Given the description of an element on the screen output the (x, y) to click on. 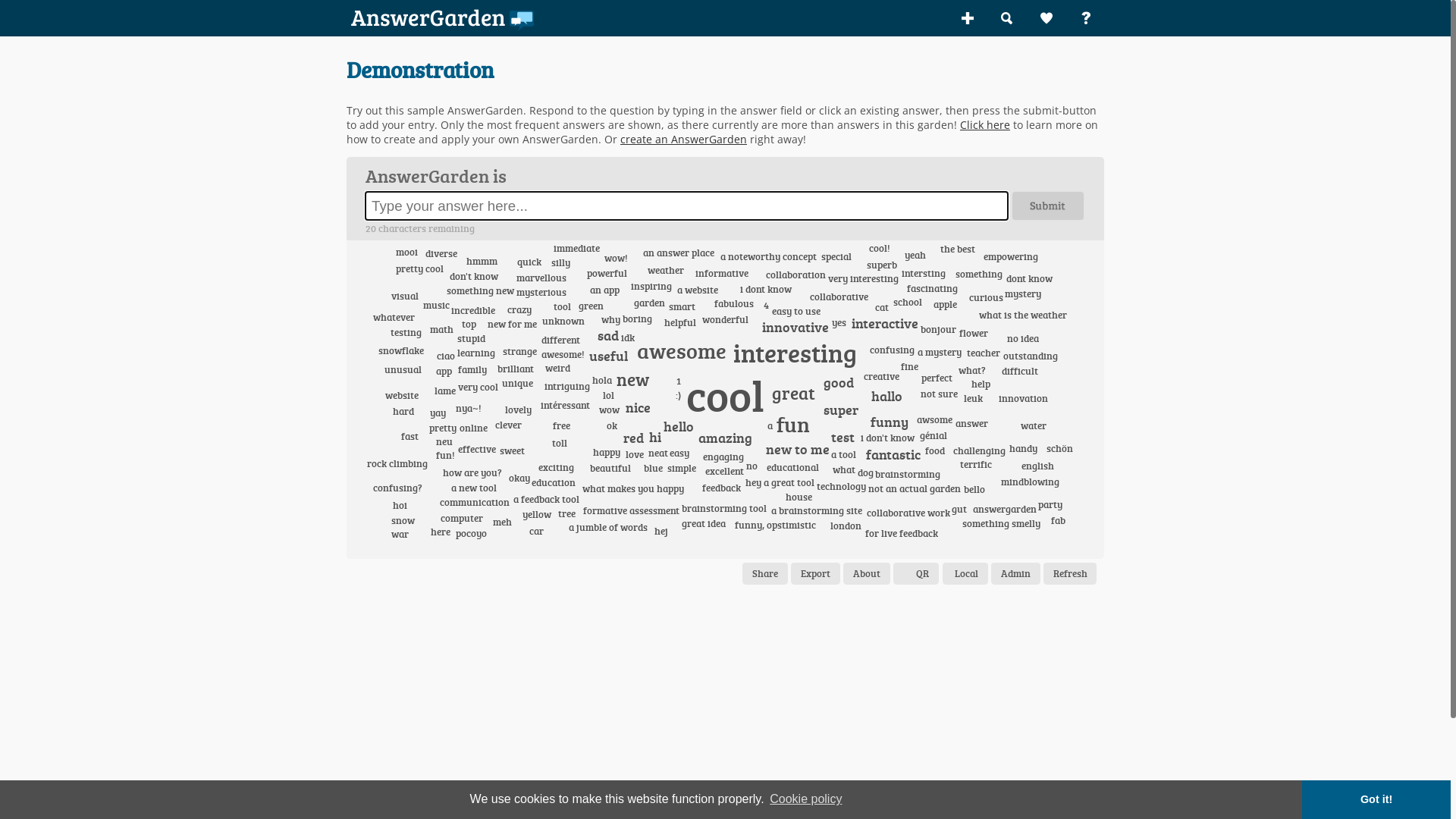
Export Element type: text (814, 573)
Refresh Element type: text (1069, 573)
Local Element type: text (965, 573)
Admin Element type: text (1015, 573)
create an AnswerGarden Element type: text (683, 138)
About Element type: text (866, 573)
QR Element type: text (922, 573)
Share Element type: text (765, 573)
Create an AnswerGarden Element type: hover (967, 18)
AnswerGarden Home Element type: hover (446, 18)
submit Element type: text (1047, 205)
AnswerGarden is Element type: text (435, 174)
Advertisement Element type: hover (725, 693)
Cookie policy Element type: text (805, 798)
Click here Element type: text (985, 124)
